Given the description of an element on the screen output the (x, y) to click on. 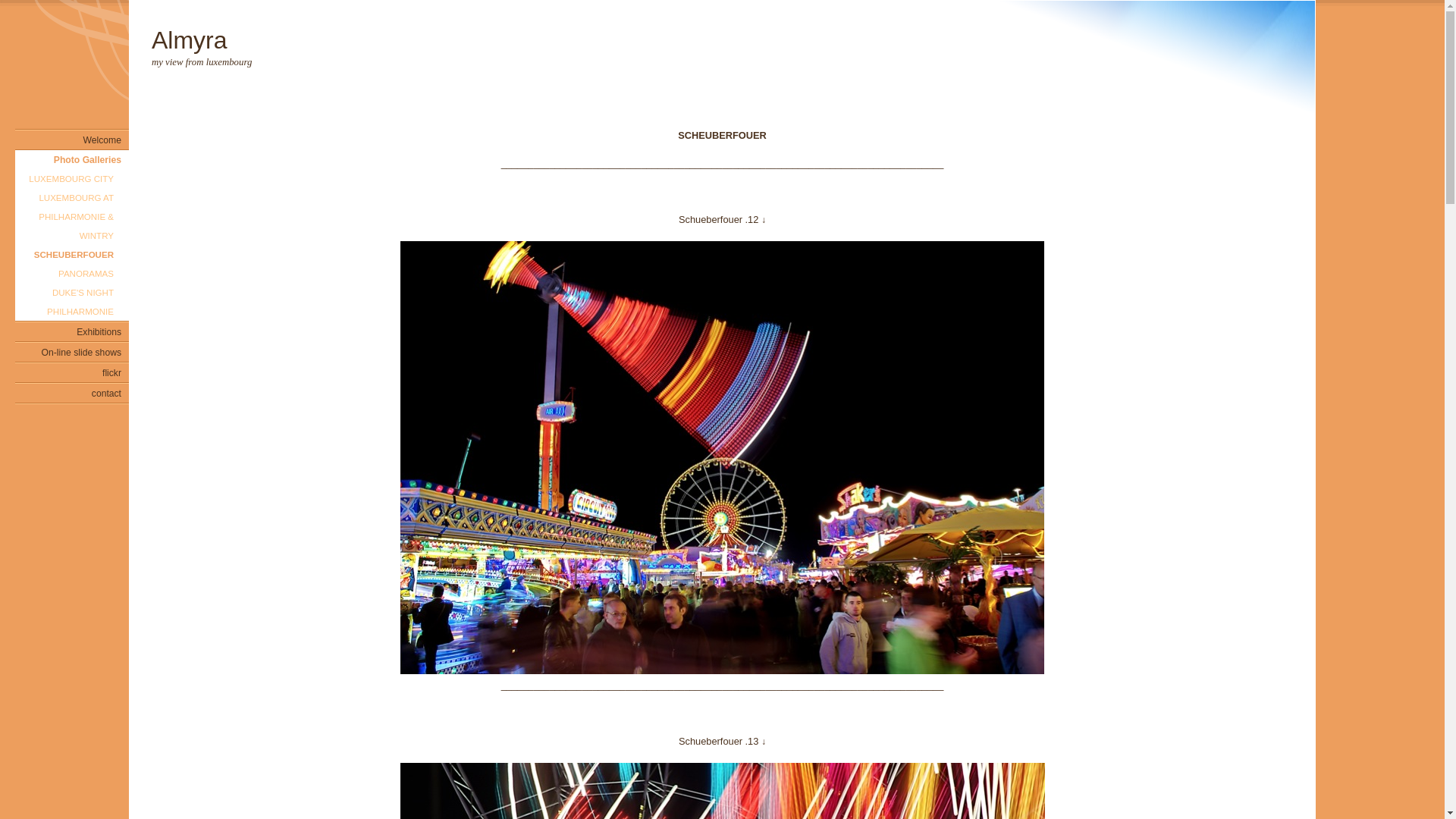
PANORAMAS Element type: text (71, 272)
Photo Galleries Element type: text (71, 159)
PHILHARMONIE Element type: text (71, 310)
contact Element type: text (71, 392)
DUKE'S NIGHT Element type: text (71, 291)
WINTRY LUXEMBOURG Element type: text (71, 234)
Exhibitions Element type: text (71, 331)
SCHEUBERFOUER Element type: text (71, 253)
LUXEMBOURG CITY Element type: text (71, 178)
Welcome Element type: text (71, 139)
On-line slide shows Element type: text (71, 352)
PHILHARMONIE & MUDAM Element type: text (71, 216)
flickr Element type: text (71, 372)
LUXEMBOURG AT NIGHT Element type: text (71, 197)
